Given the description of an element on the screen output the (x, y) to click on. 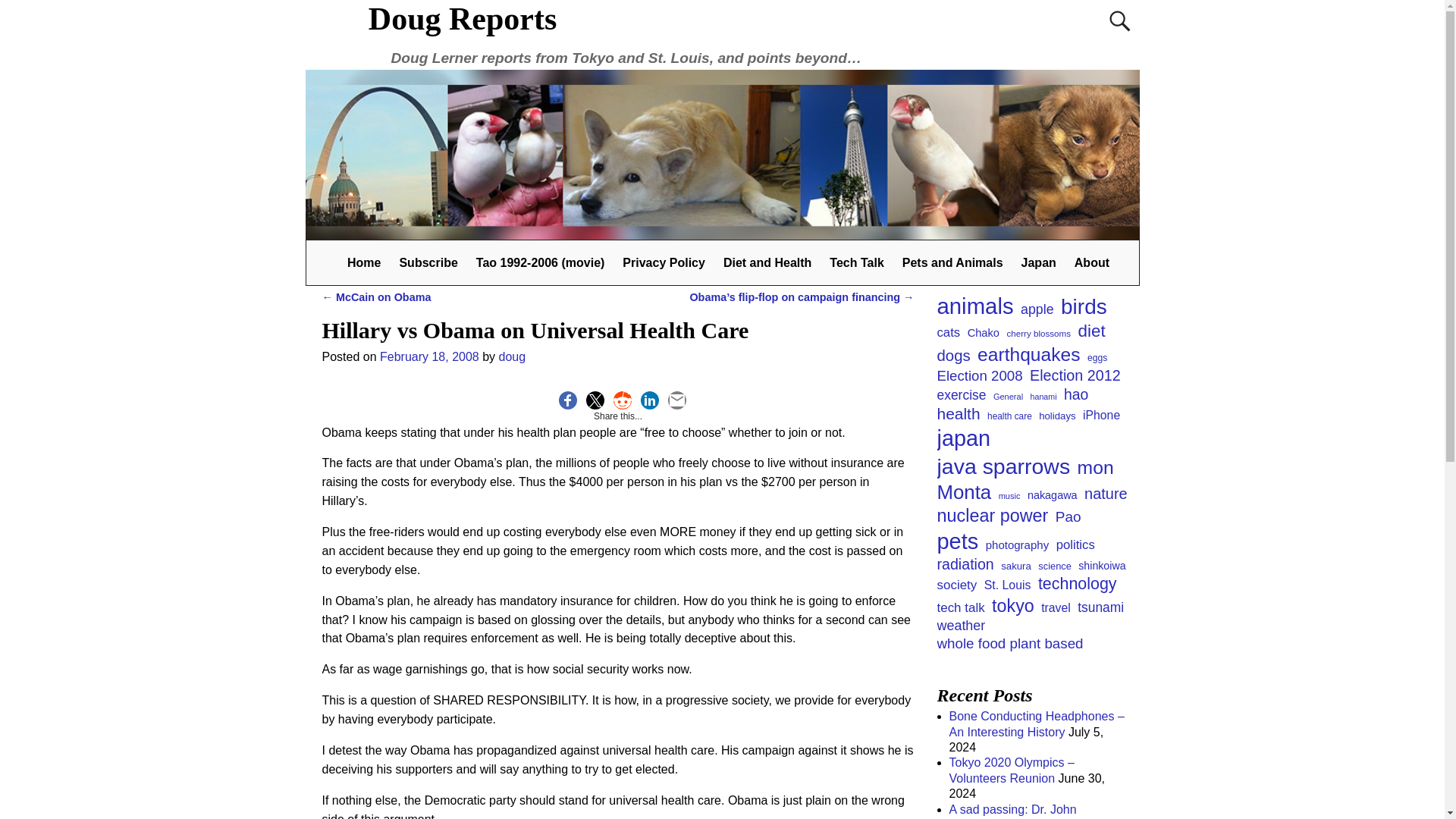
Diet and Health (767, 262)
February 18, 2008 (429, 356)
Privacy Policy (663, 262)
Chako (983, 332)
dogs (954, 356)
Home (363, 262)
Pets and Animals (952, 262)
Tech Talk (856, 262)
Japan (1038, 262)
birds (1083, 307)
cherry blossoms (1038, 333)
View all posts by doug (512, 356)
diet (1091, 332)
7:25 am (429, 356)
Doug Reports (463, 18)
